Given the description of an element on the screen output the (x, y) to click on. 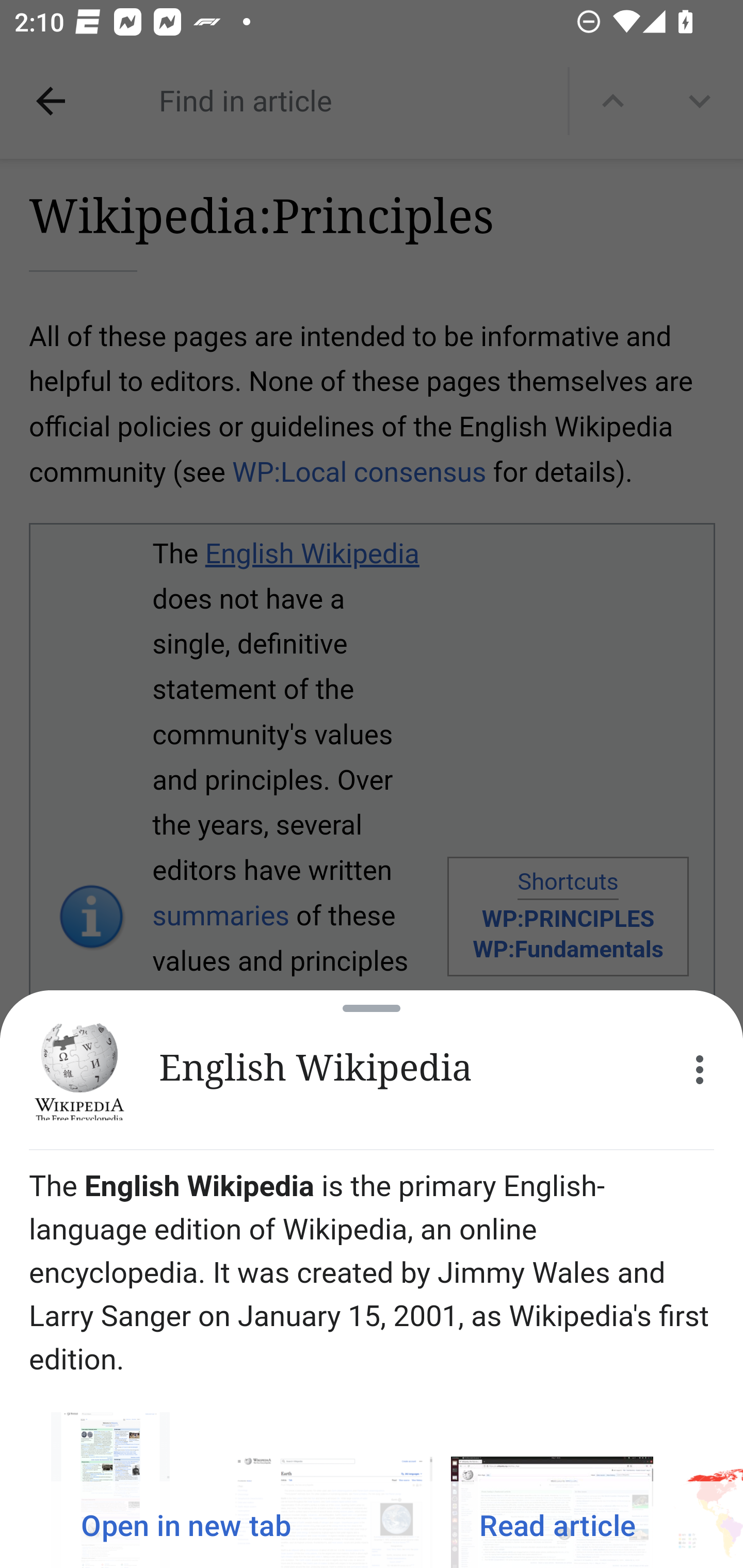
English Wikipedia More options (371, 1069)
More options (699, 1070)
Open in new tab (185, 1524)
Read article (557, 1524)
